Given the description of an element on the screen output the (x, y) to click on. 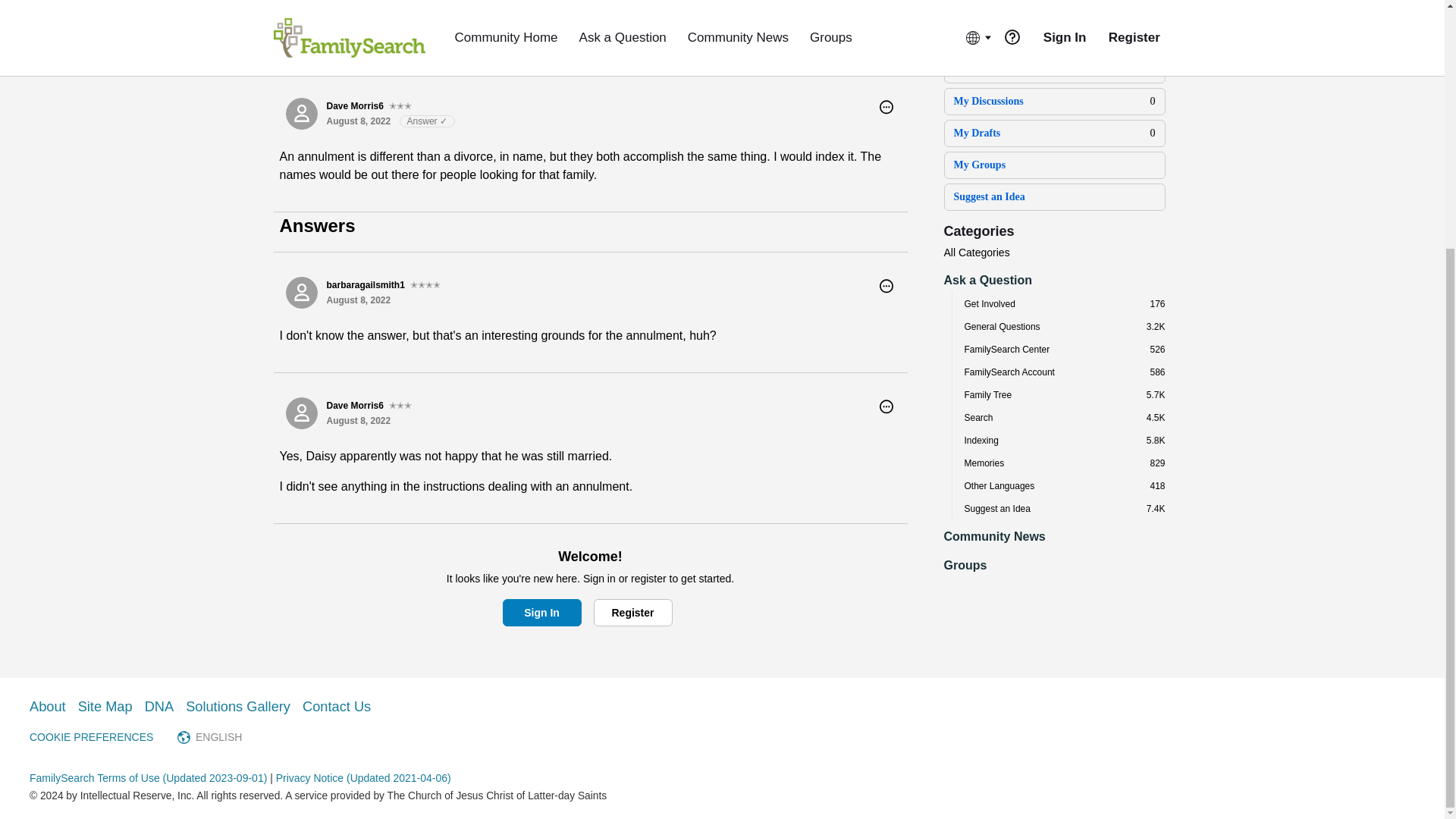
Dave Morris6 (301, 413)
Sign In (541, 612)
Level 3 (400, 405)
barbaragailsmith1 (301, 292)
Level 4 (425, 284)
August 8, 2022 3:34PM (358, 299)
Dave Morris6 (301, 113)
Register (631, 612)
August 8, 2022 6:06PM (358, 420)
August 8, 2022 3:48PM (358, 121)
Level 3 (400, 106)
